Given the description of an element on the screen output the (x, y) to click on. 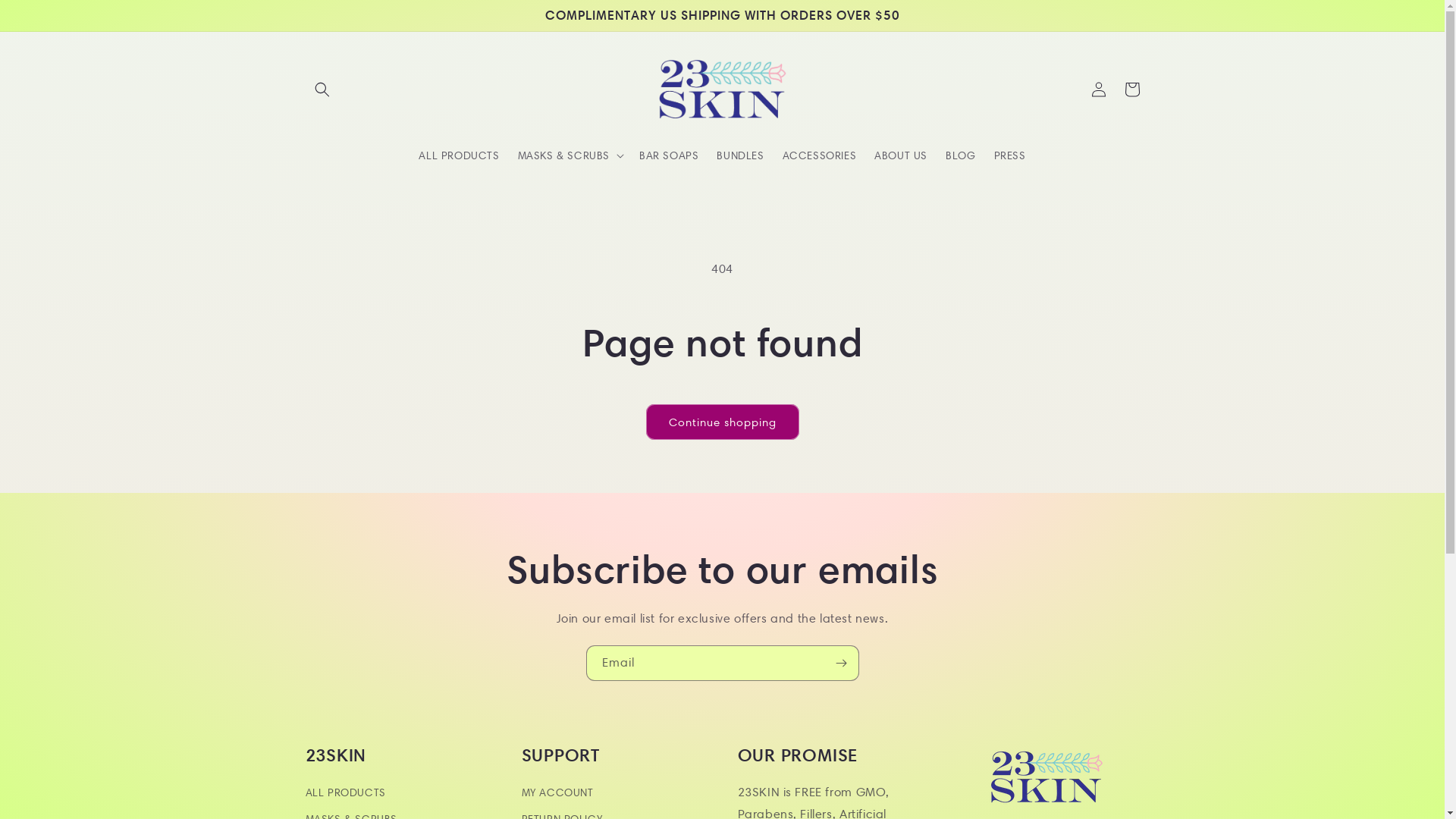
ALL PRODUCTS Element type: text (344, 794)
ABOUT US Element type: text (900, 155)
BLOG Element type: text (960, 155)
Log in Element type: text (1097, 89)
Cart Element type: text (1131, 89)
MY ACCOUNT Element type: text (557, 794)
BUNDLES Element type: text (739, 155)
BAR SOAPS Element type: text (668, 155)
ALL PRODUCTS Element type: text (458, 155)
Continue shopping Element type: text (722, 421)
ACCESSORIES Element type: text (819, 155)
PRESS Element type: text (1010, 155)
